Given the description of an element on the screen output the (x, y) to click on. 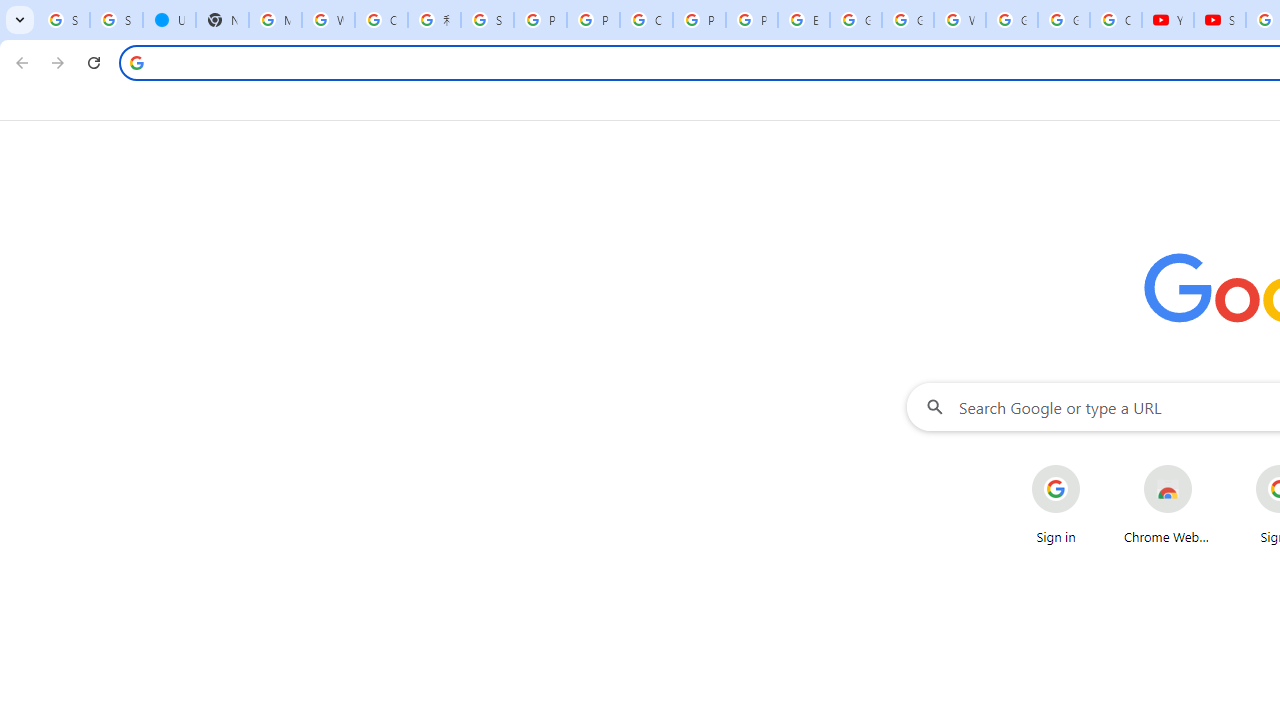
Edit and view right-to-left text - Google Docs Editors Help (803, 20)
New Tab (222, 20)
